Given the description of an element on the screen output the (x, y) to click on. 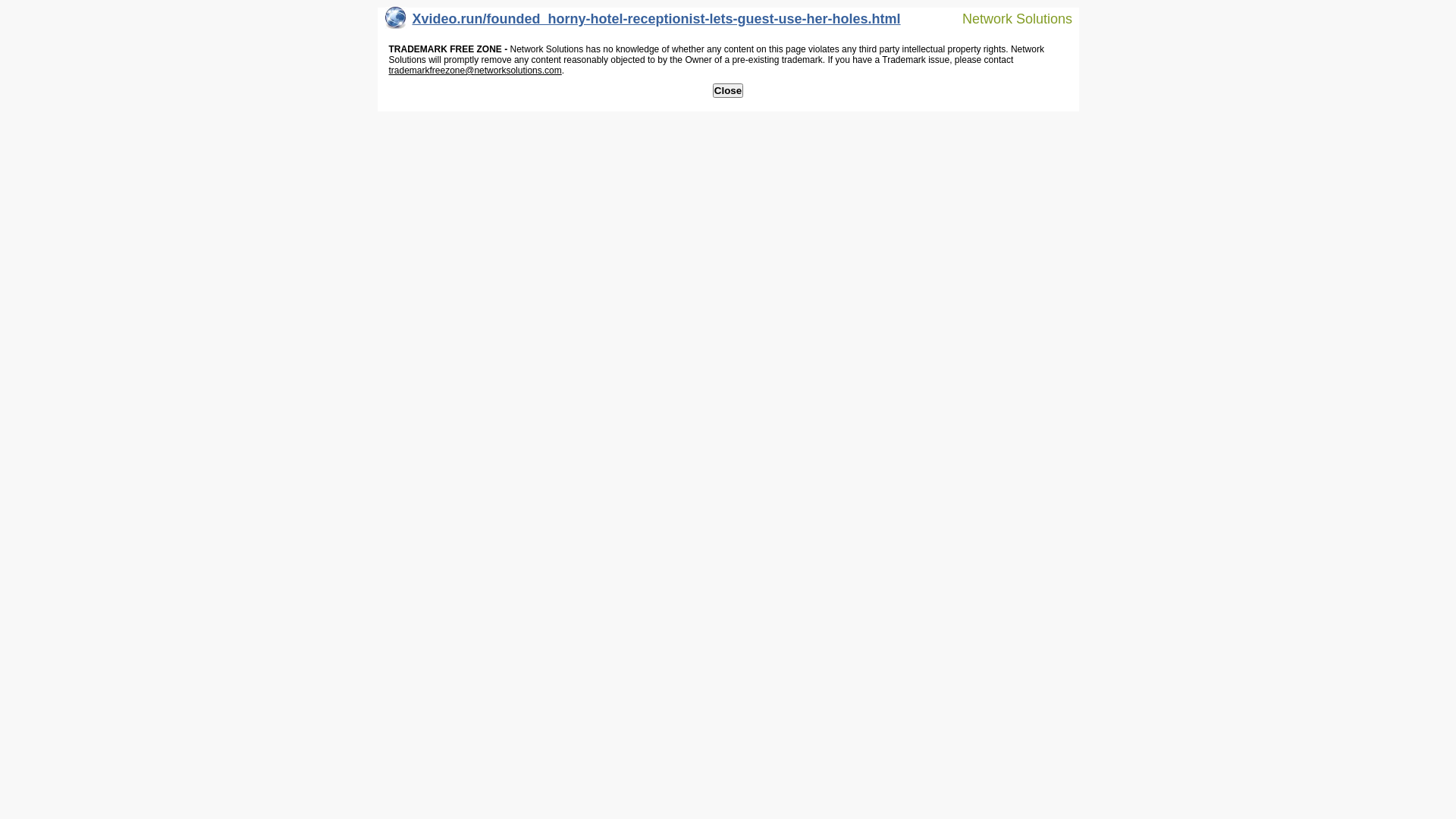
Close Element type: text (727, 90)
Network Solutions Element type: text (1007, 17)
trademarkfreezone@networksolutions.com Element type: text (474, 70)
